Given the description of an element on the screen output the (x, y) to click on. 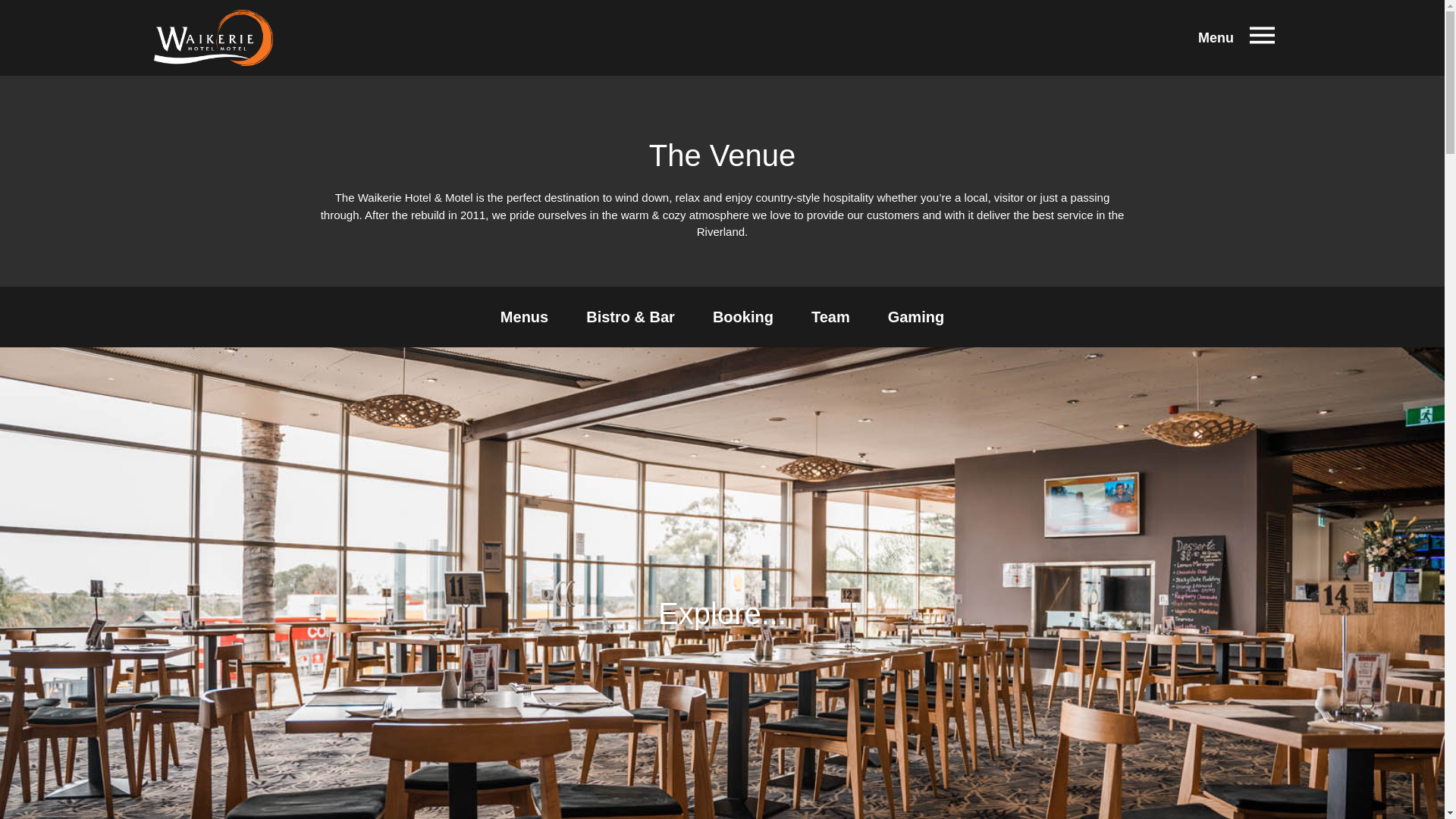
Team (830, 315)
Gaming (915, 315)
Menus (524, 315)
Booking (743, 315)
